Given the description of an element on the screen output the (x, y) to click on. 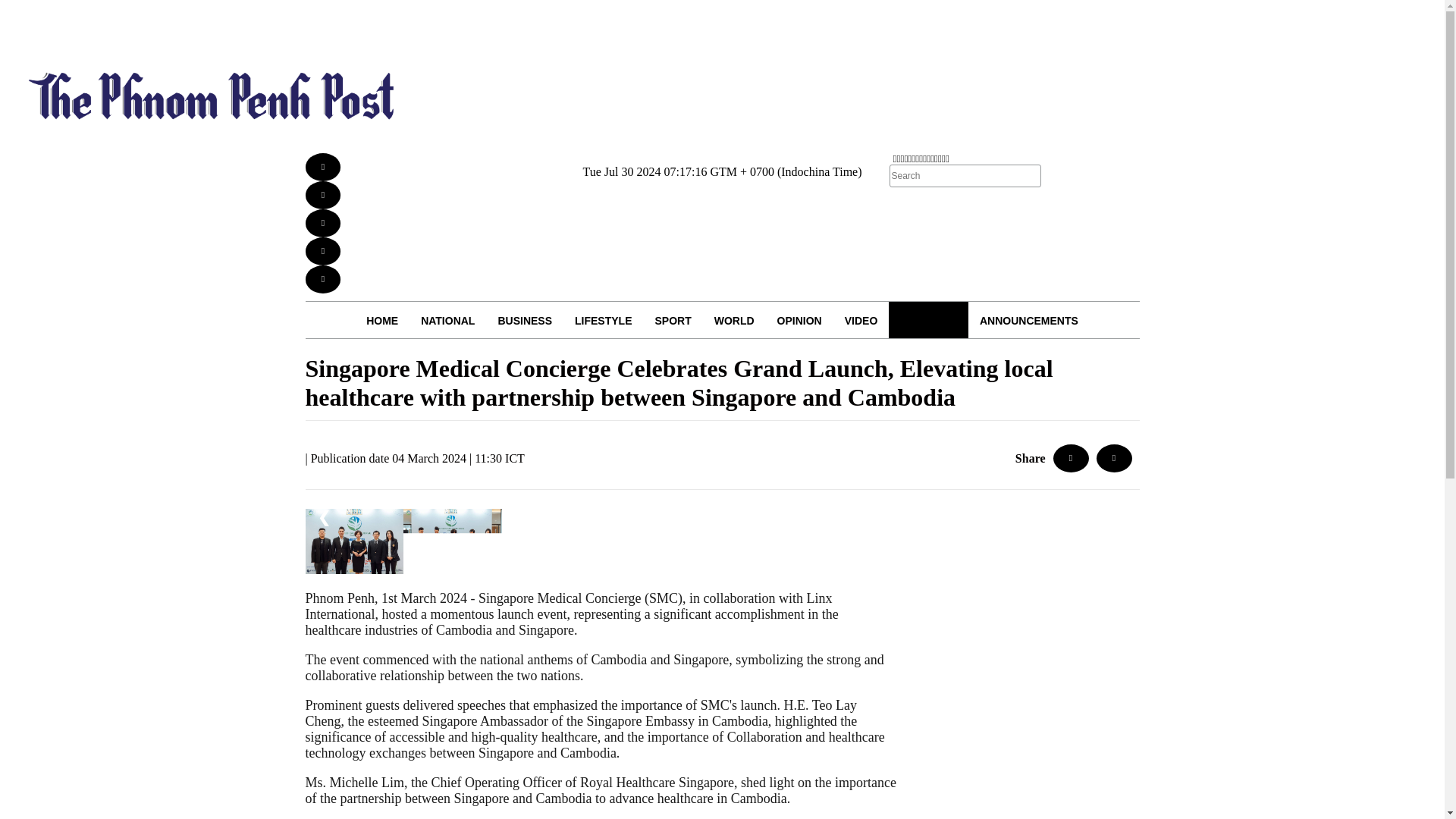
VIDEO (860, 320)
SPORT (672, 320)
WORLD (734, 320)
SOCIALITE (928, 320)
HOME (382, 320)
LIFESTYLE (603, 320)
NATIONAL (447, 320)
BUSINESS (524, 320)
OPINION (798, 320)
ANNOUNCEMENTS (1028, 320)
